Given the description of an element on the screen output the (x, y) to click on. 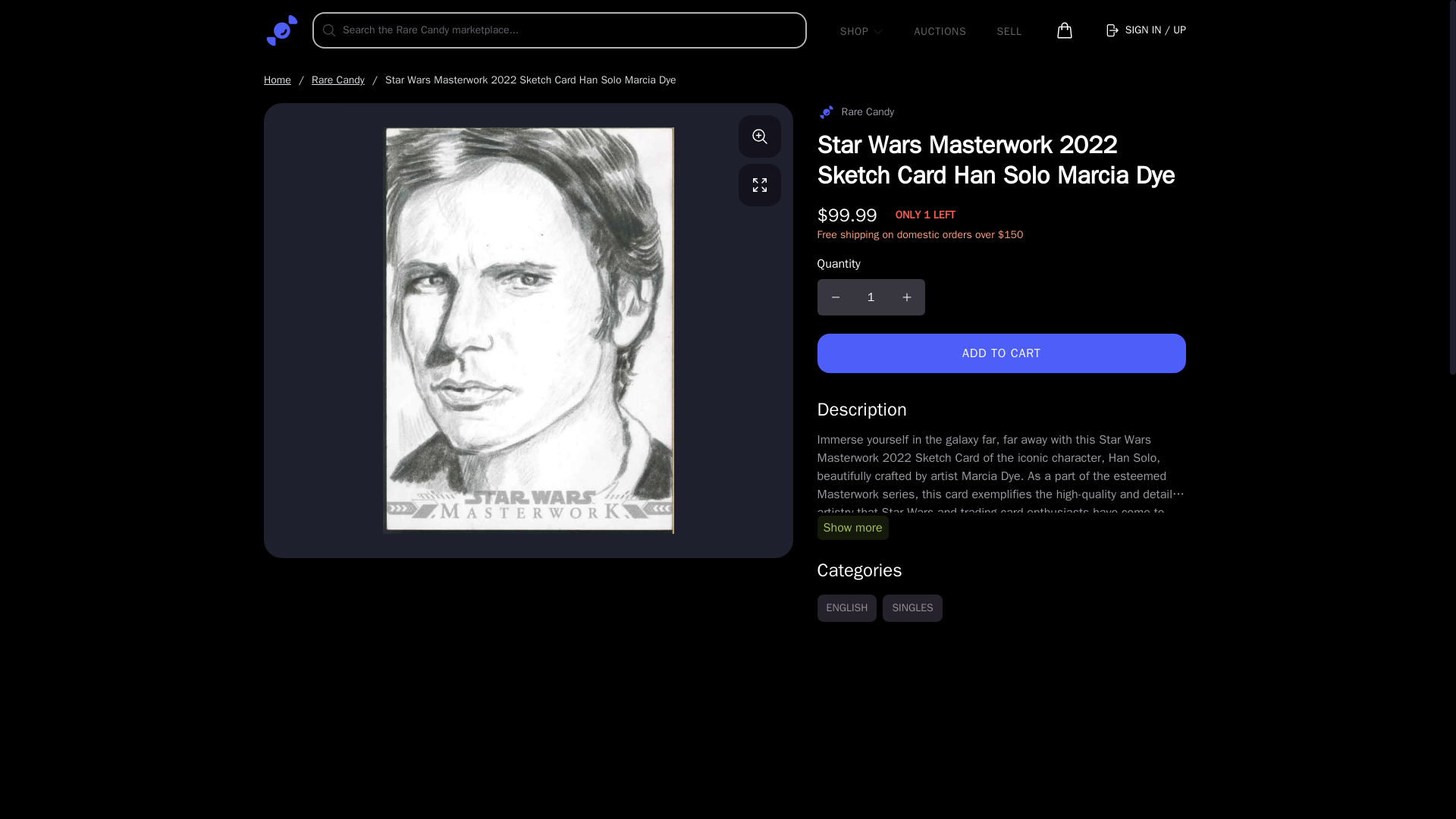
1 (871, 297)
ENGLISH (846, 607)
Link to home (281, 30)
SELL (1008, 30)
AUCTIONS (940, 30)
Go to Rare Candy store (855, 112)
ADD TO CART (1001, 353)
SHOP (861, 30)
Rare Candy (338, 79)
SINGLES (912, 607)
Rare Candy (855, 112)
Home (277, 79)
